Given the description of an element on the screen output the (x, y) to click on. 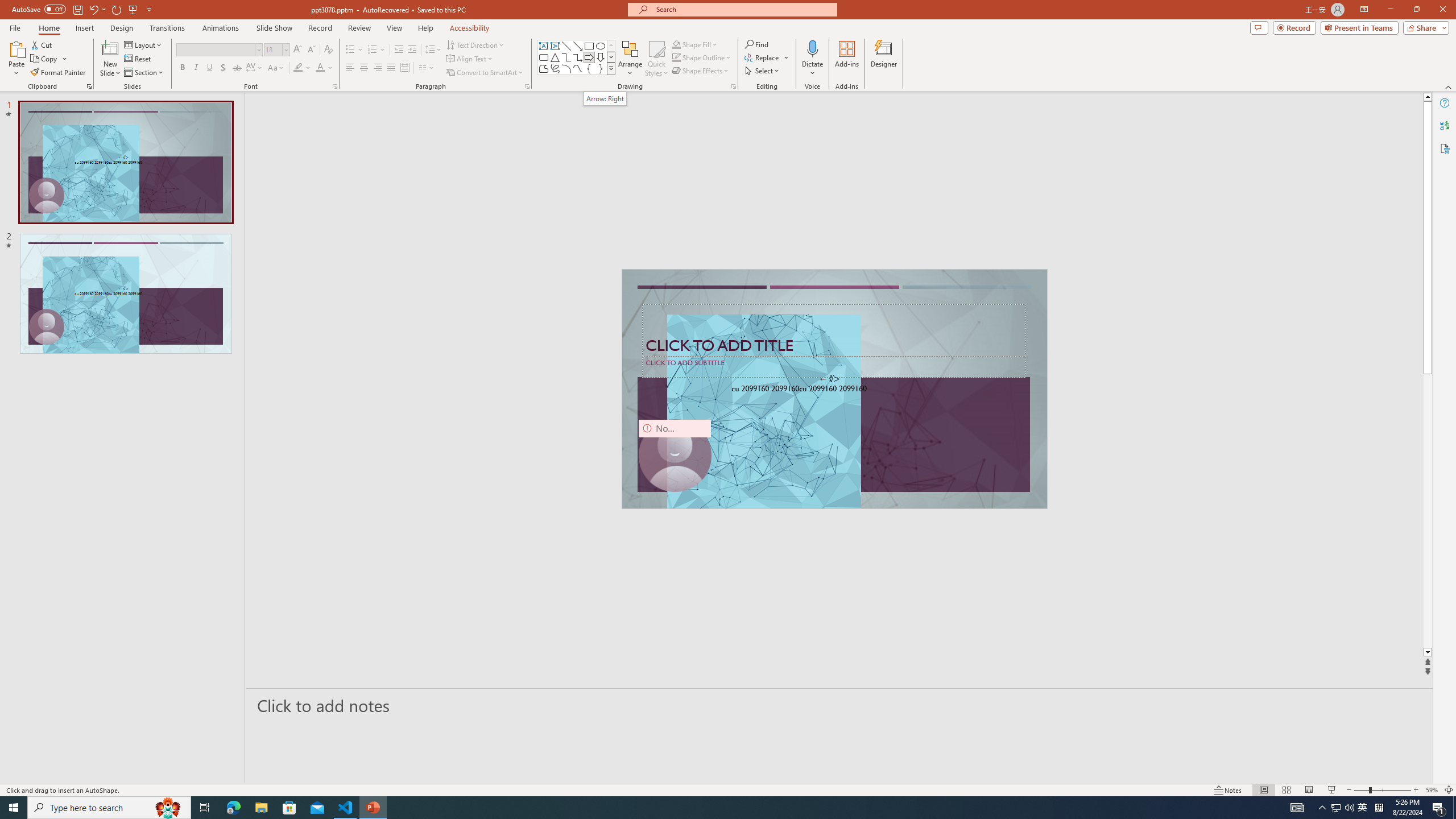
Reset (138, 58)
Format Painter (58, 72)
Justify (390, 67)
Text Direction (476, 44)
Align Left (349, 67)
Freeform: Scribble (554, 68)
Camera 9, No camera detected. (674, 455)
